Given the description of an element on the screen output the (x, y) to click on. 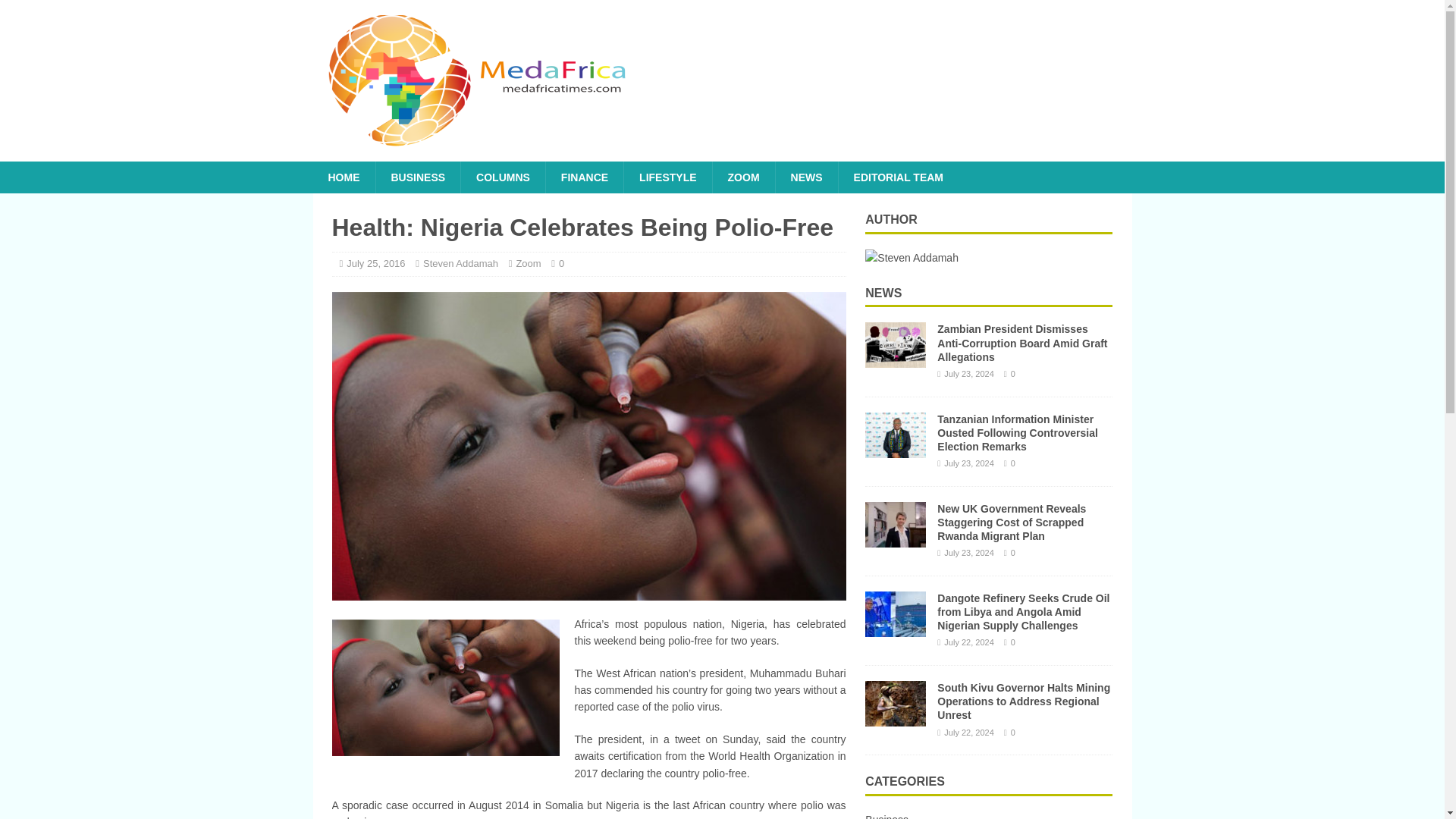
HOME (343, 177)
BUSINESS (417, 177)
FINANCE (583, 177)
LIFESTYLE (667, 177)
NEWS (806, 177)
Zoom (527, 263)
ZOOM (742, 177)
